Given the description of an element on the screen output the (x, y) to click on. 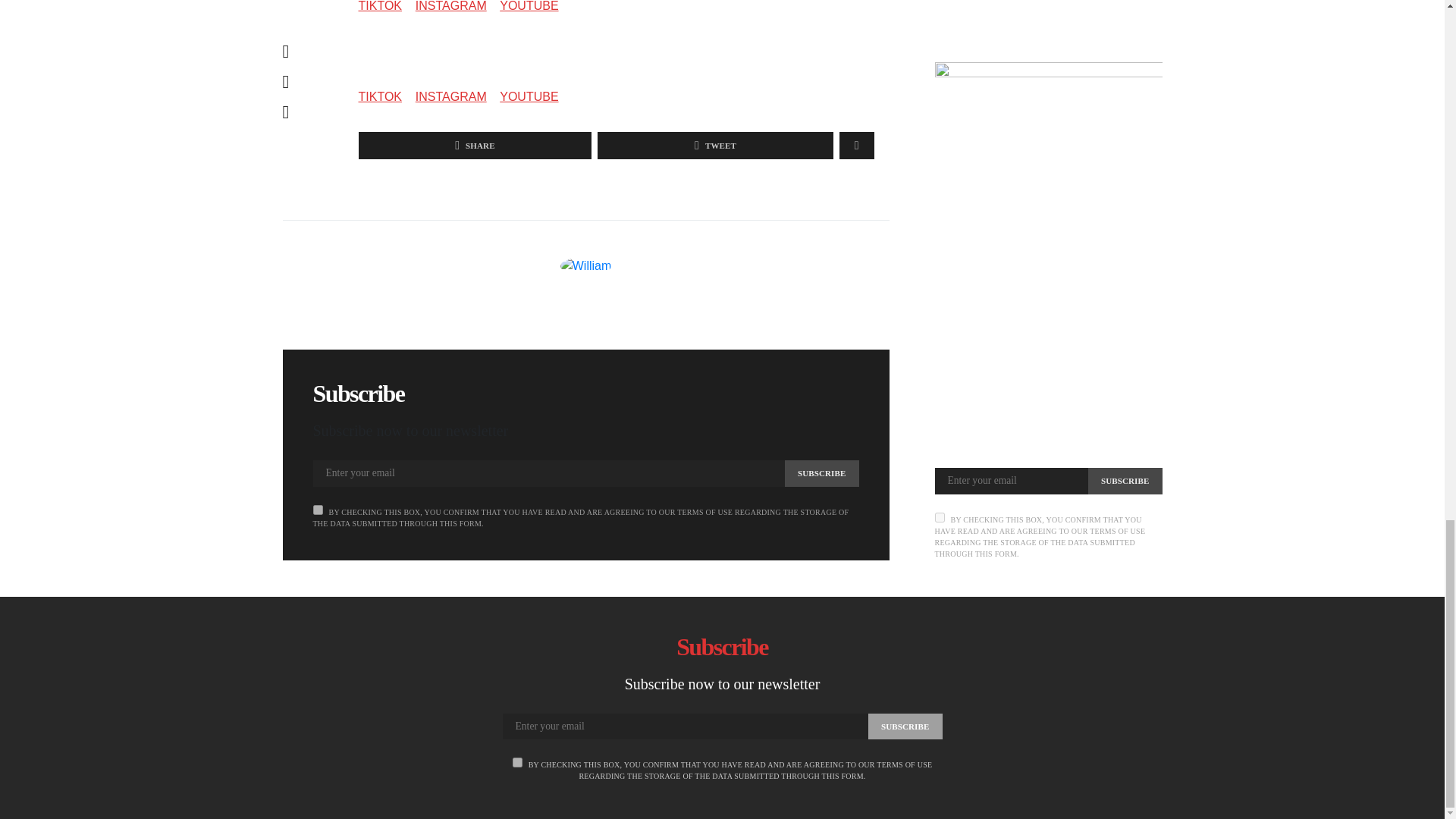
on (517, 762)
on (317, 510)
